Given the description of an element on the screen output the (x, y) to click on. 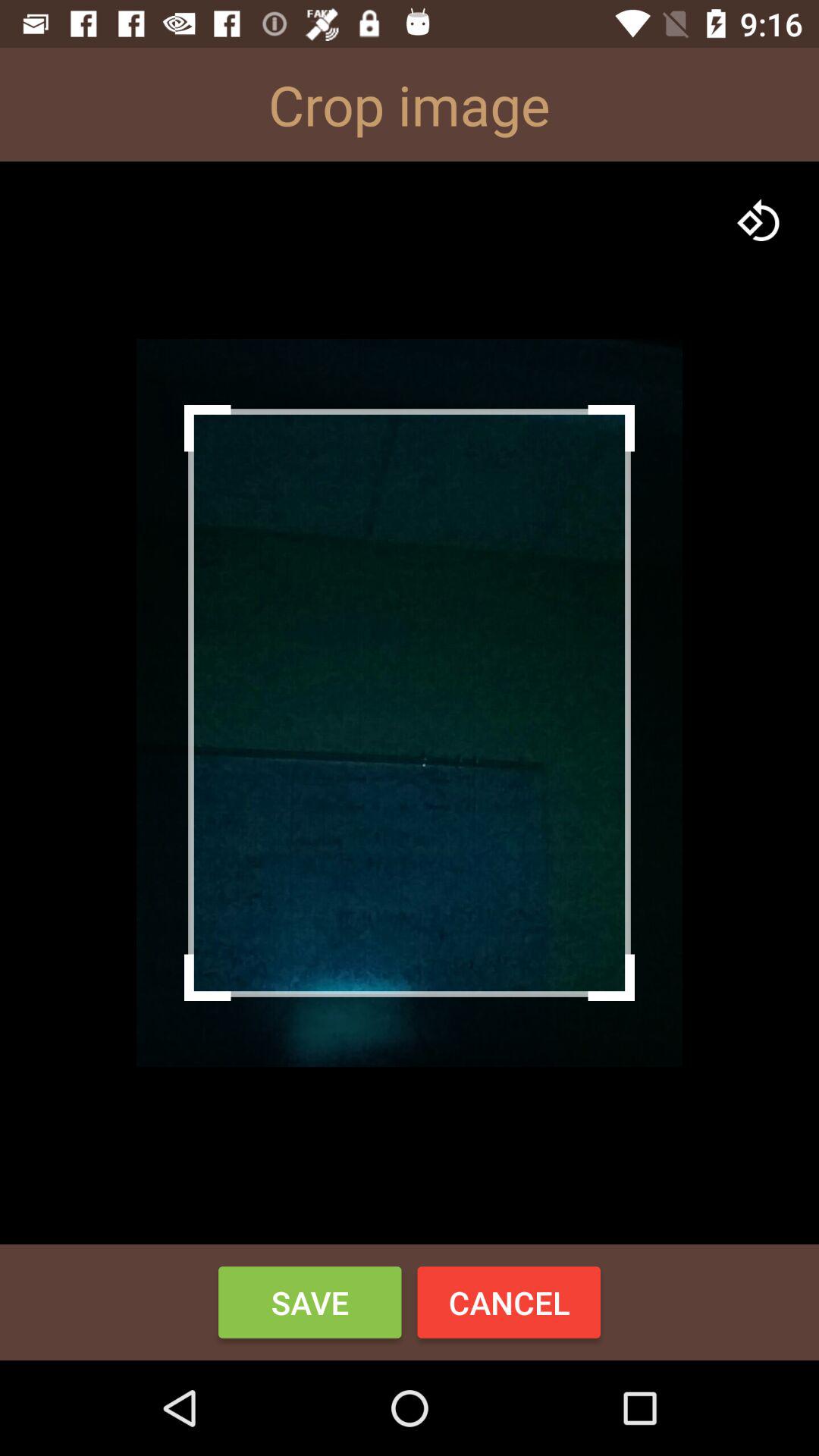
scroll until cancel (508, 1302)
